Given the description of an element on the screen output the (x, y) to click on. 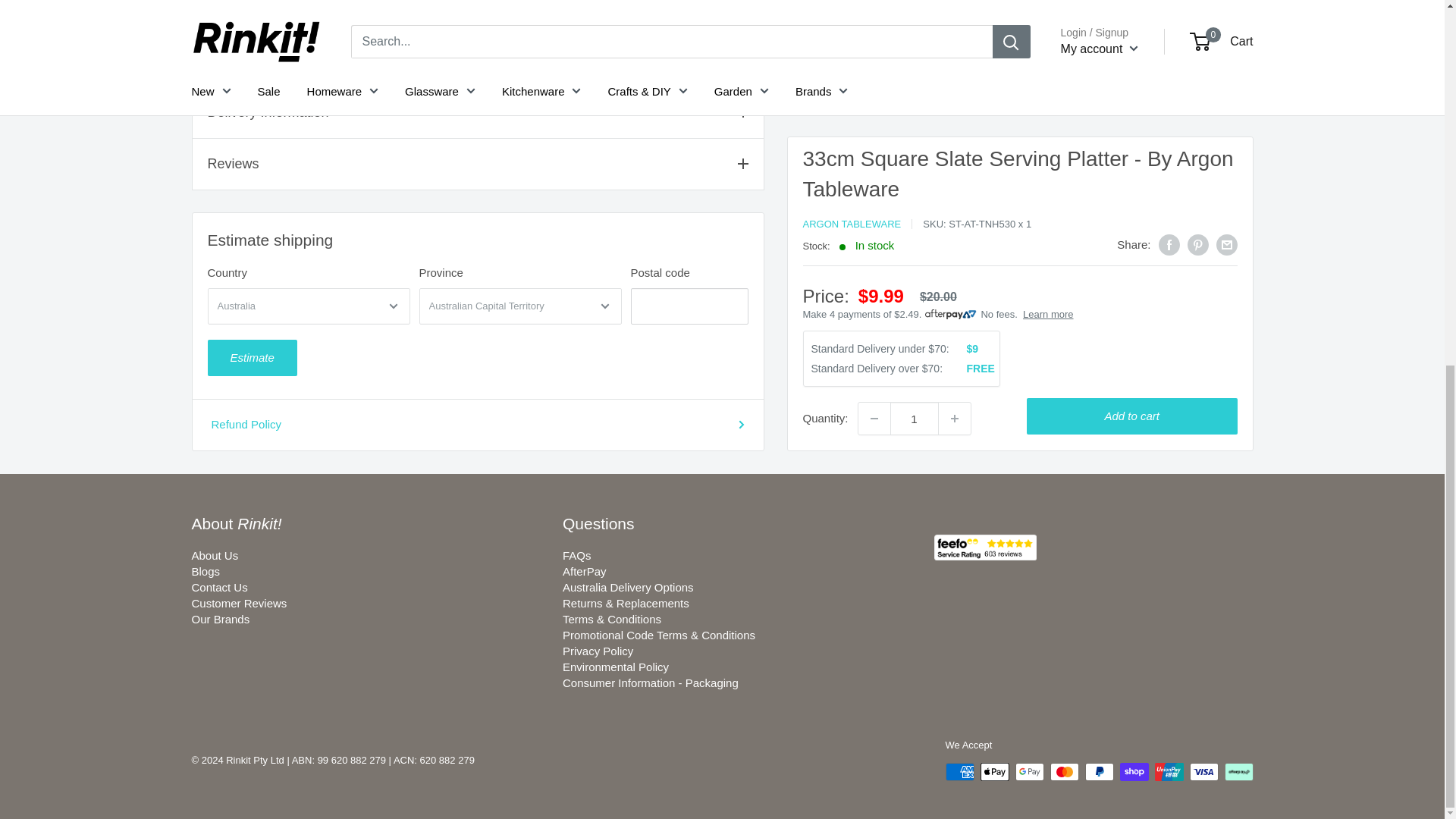
Afterpay (1238, 771)
See what our customers say about us (985, 547)
